Given the description of an element on the screen output the (x, y) to click on. 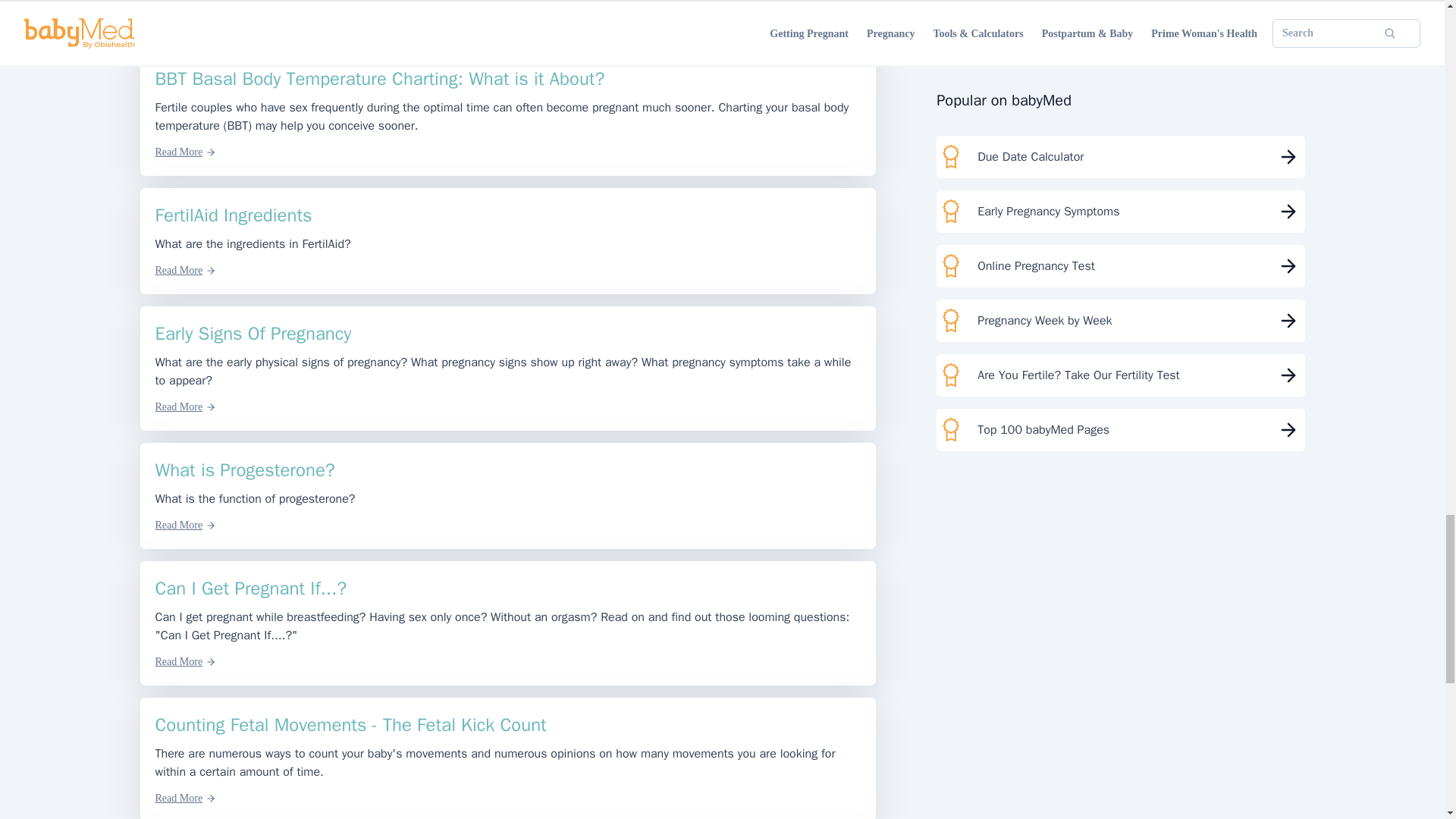
Read More (184, 15)
